Given the description of an element on the screen output the (x, y) to click on. 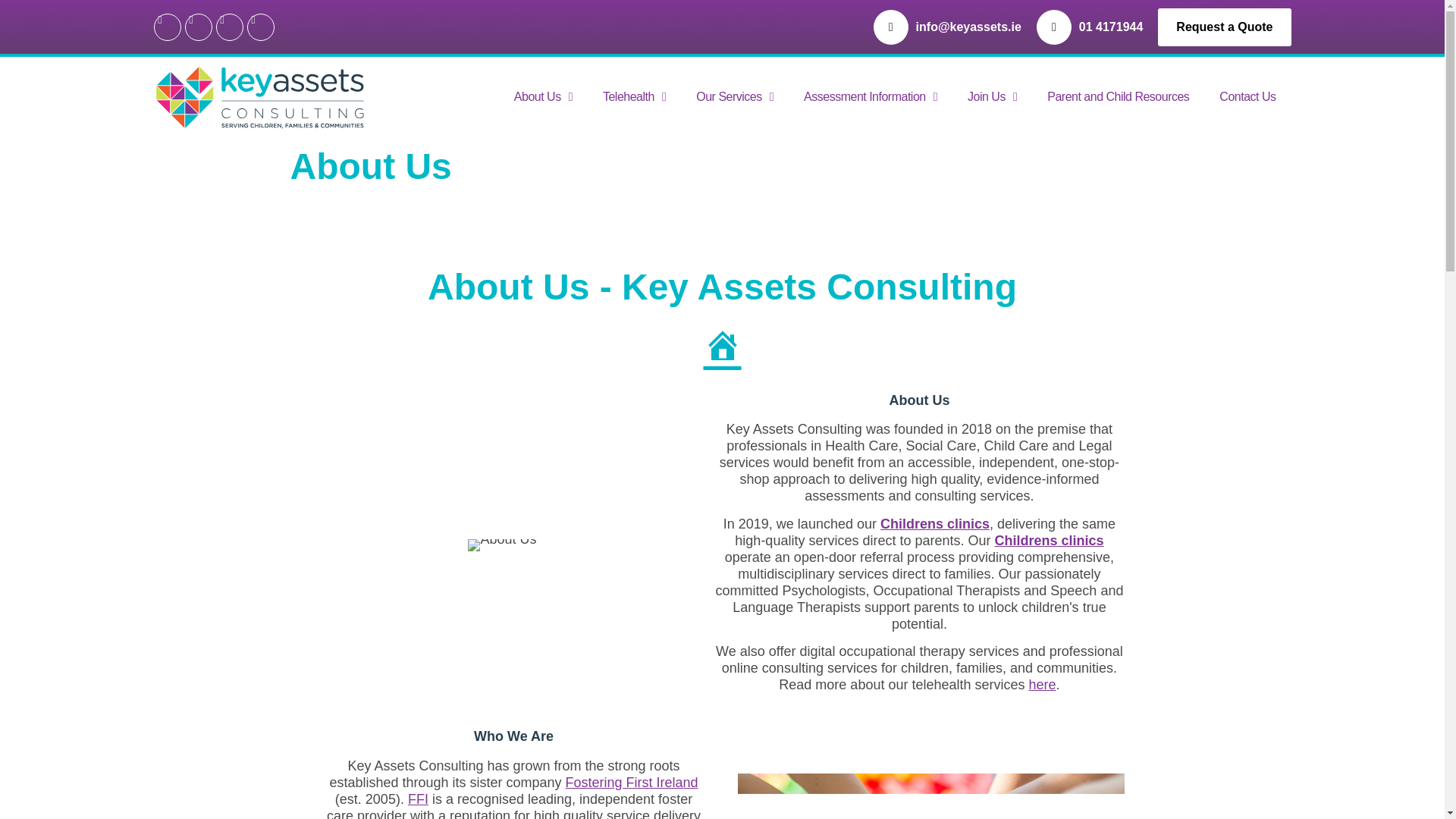
Assessment Information (870, 96)
Request a Quote (1223, 26)
About Us (543, 96)
Telehealth (634, 96)
Parent and Child Resources (1118, 96)
Contact Us (1247, 96)
01 4171944 (1110, 26)
Join Us (992, 96)
Our Services (735, 96)
Who We Are (930, 796)
